Given the description of an element on the screen output the (x, y) to click on. 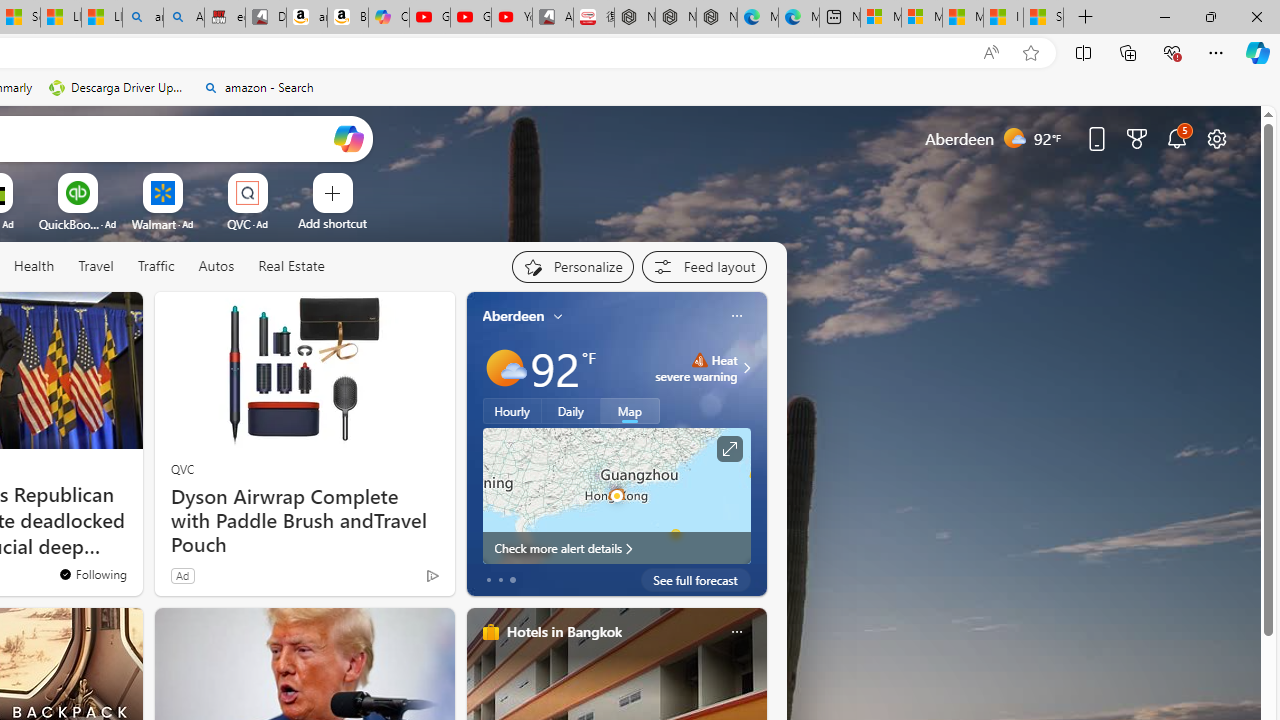
Add a site (332, 223)
previous (476, 443)
I Gained 20 Pounds of Muscle in 30 Days! | Watch (1003, 17)
Hourly (511, 411)
